Given the description of an element on the screen output the (x, y) to click on. 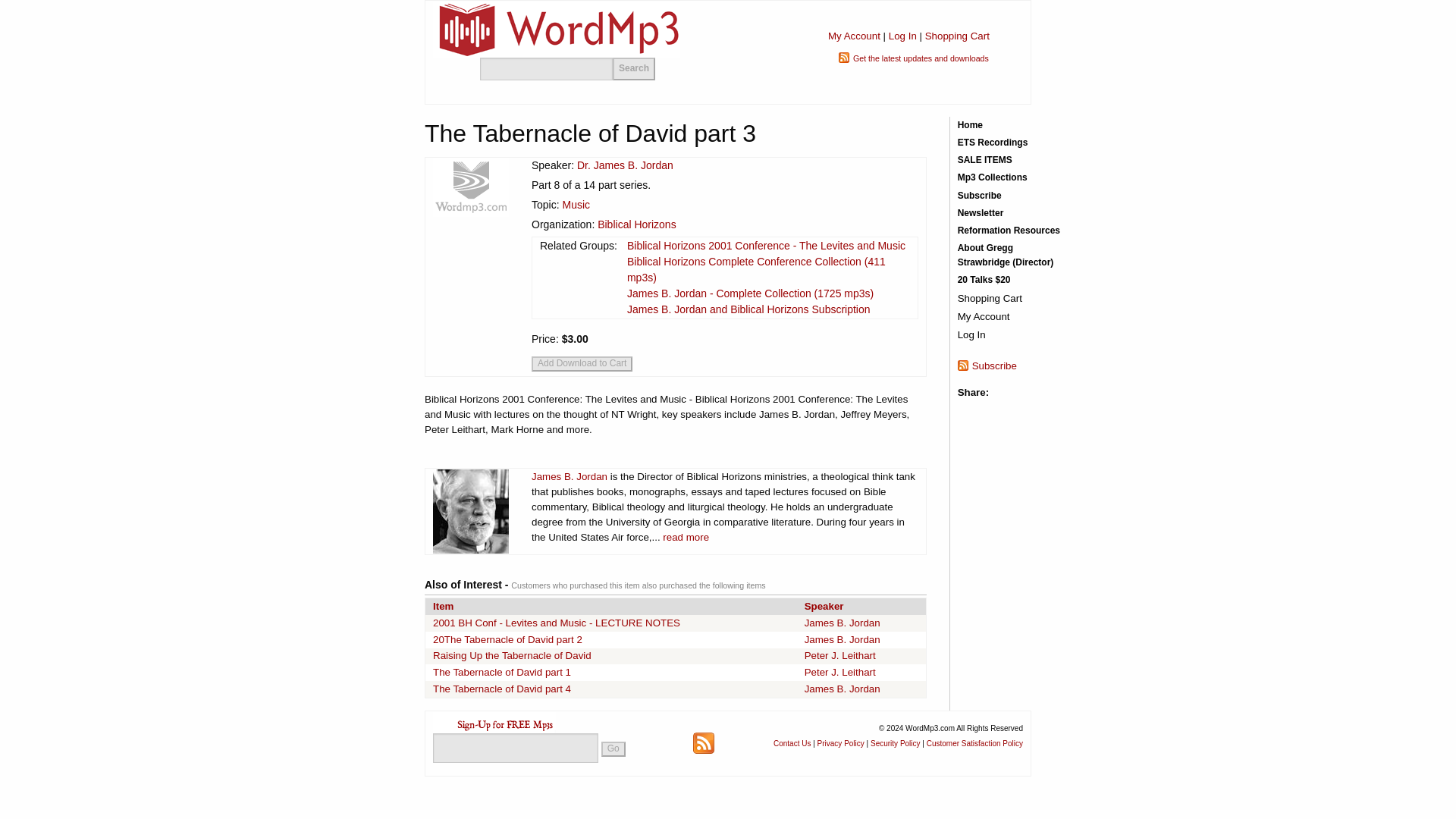
Add Download to Cart (581, 363)
Biblical Horizons 2001 Conference - The Levites and Music (766, 245)
James B. Jordan (842, 639)
read more (685, 536)
Log In (902, 35)
Search (633, 68)
James B. Jordan (842, 622)
James B. Jordan and Biblical Horizons Subscription (748, 309)
Music (575, 204)
Get the latest updates and downloads (920, 58)
Go (613, 749)
Speaker (824, 605)
20The Tabernacle of David part 2 (507, 639)
RSS feed (703, 742)
James B. Jordan (569, 476)
